Given the description of an element on the screen output the (x, y) to click on. 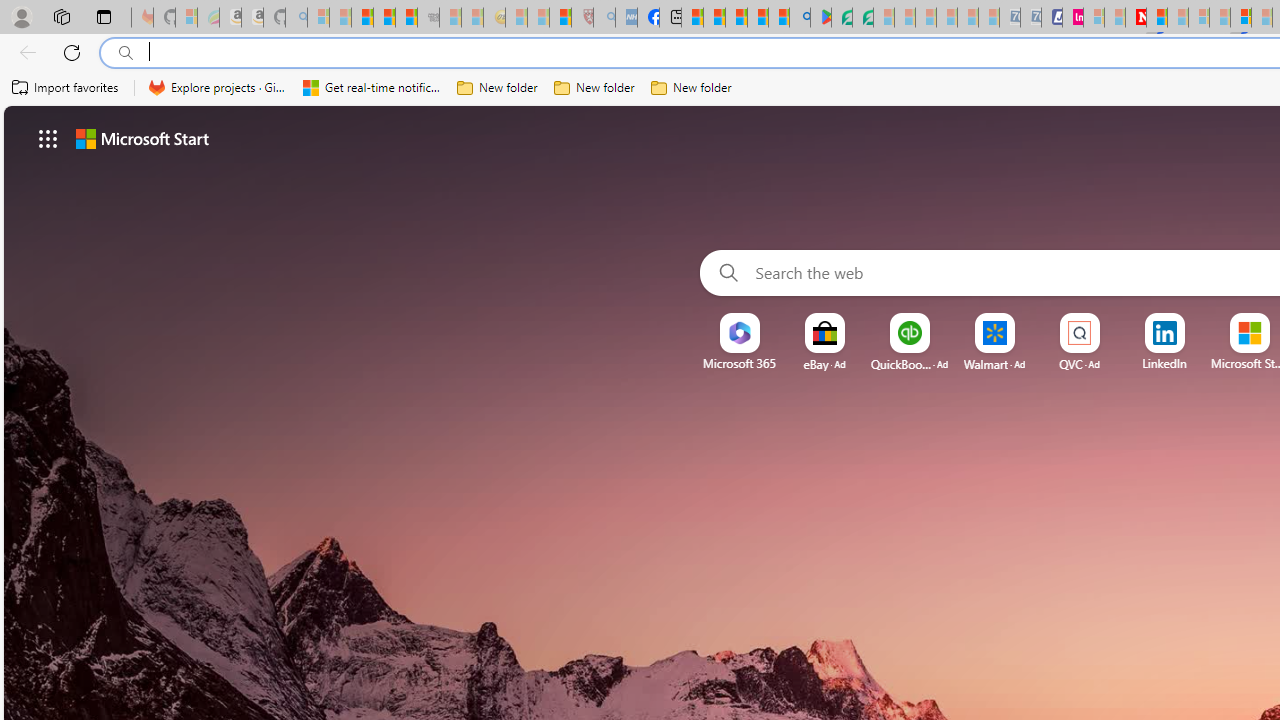
Microsoft Word - consumer-privacy address update 2.2021 (862, 17)
New folder (691, 88)
Offline games - Android Apps on Google Play (820, 17)
